Given the description of an element on the screen output the (x, y) to click on. 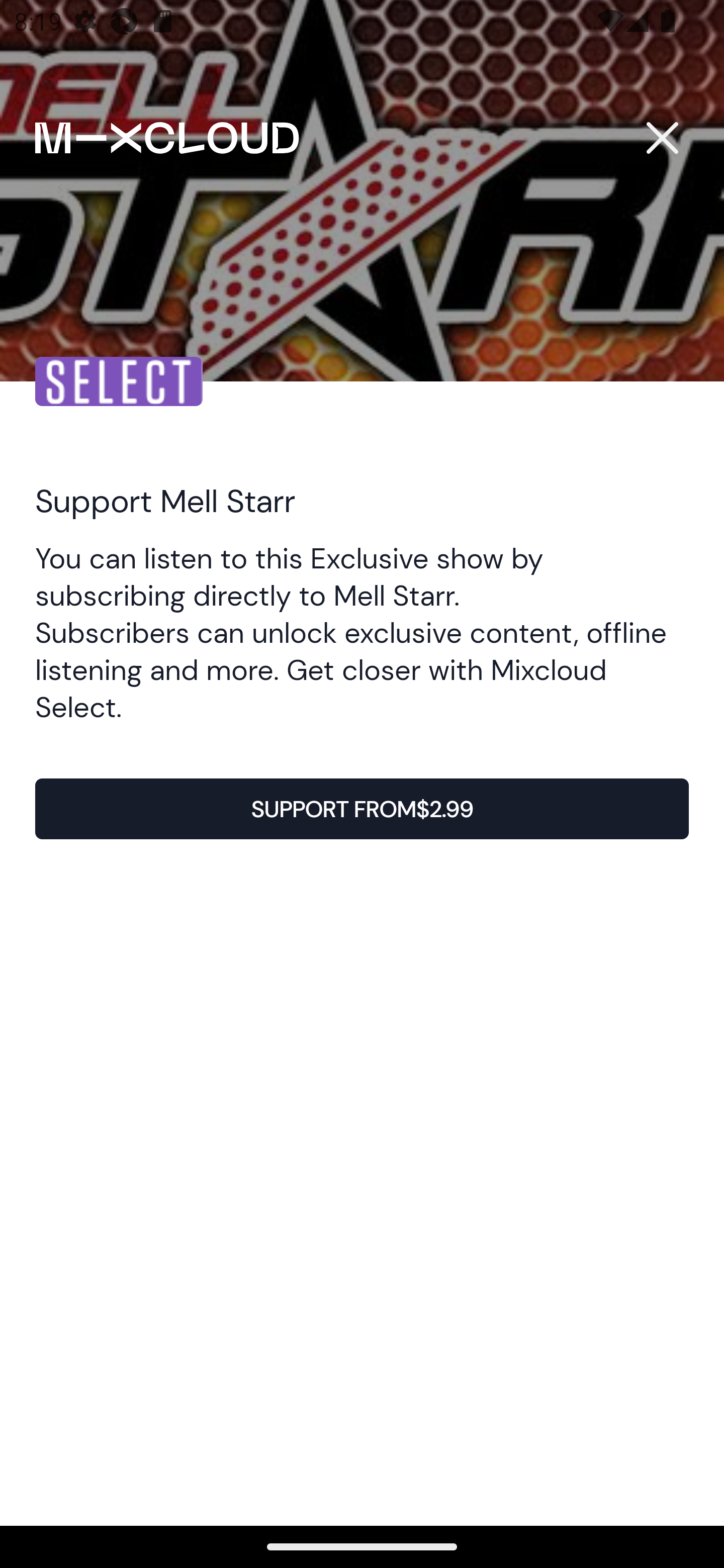
Close popup button (661, 137)
SUPPORT FROM$2.99 (361, 807)
